Given the description of an element on the screen output the (x, y) to click on. 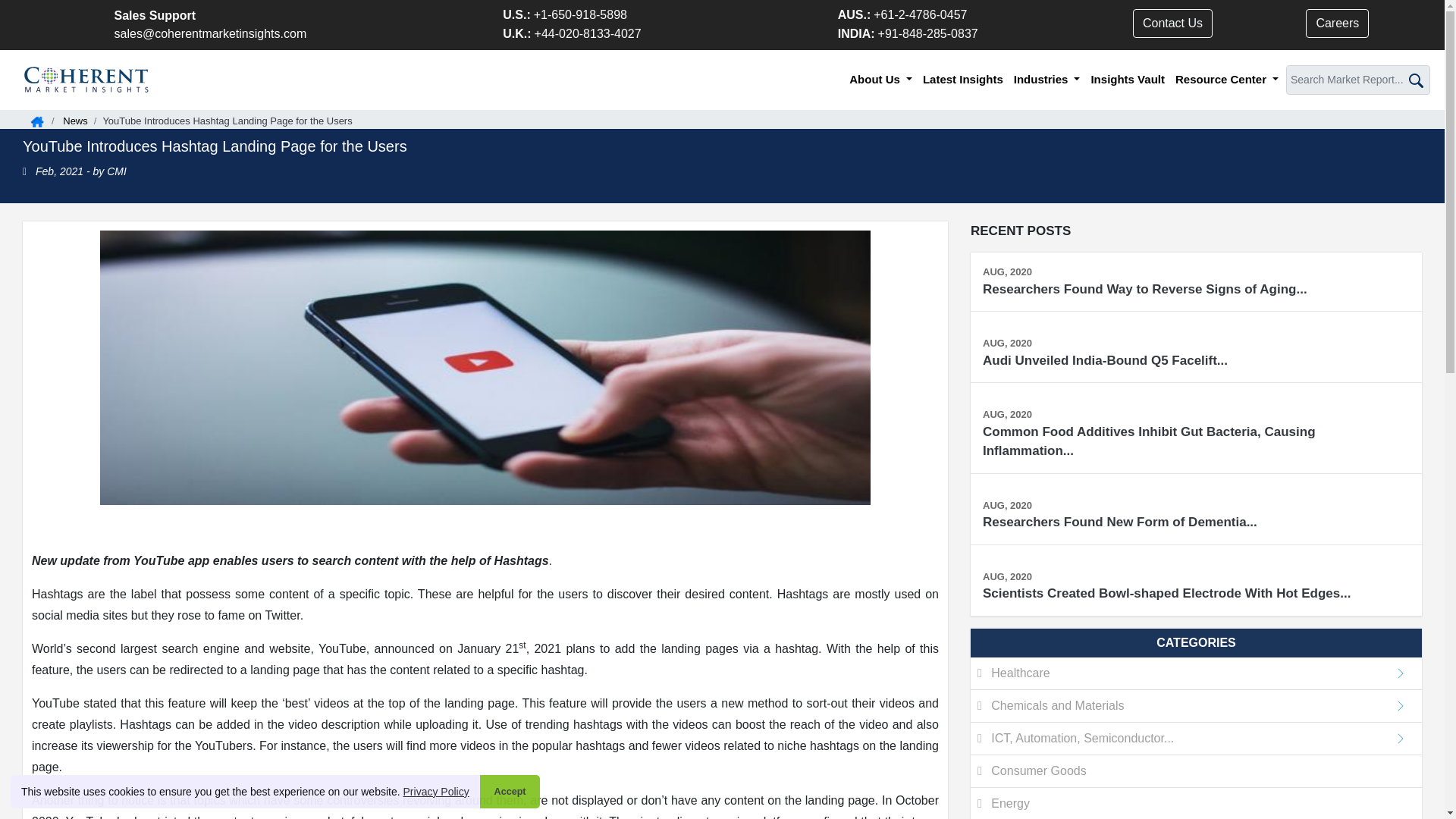
Blogs (74, 120)
About Us (880, 80)
Latest Insights (963, 80)
CMI Logo (86, 79)
Industries (1046, 80)
Careers (1337, 23)
Accept (510, 791)
Healthcare (1196, 672)
Contact Us (1172, 23)
